Given the description of an element on the screen output the (x, y) to click on. 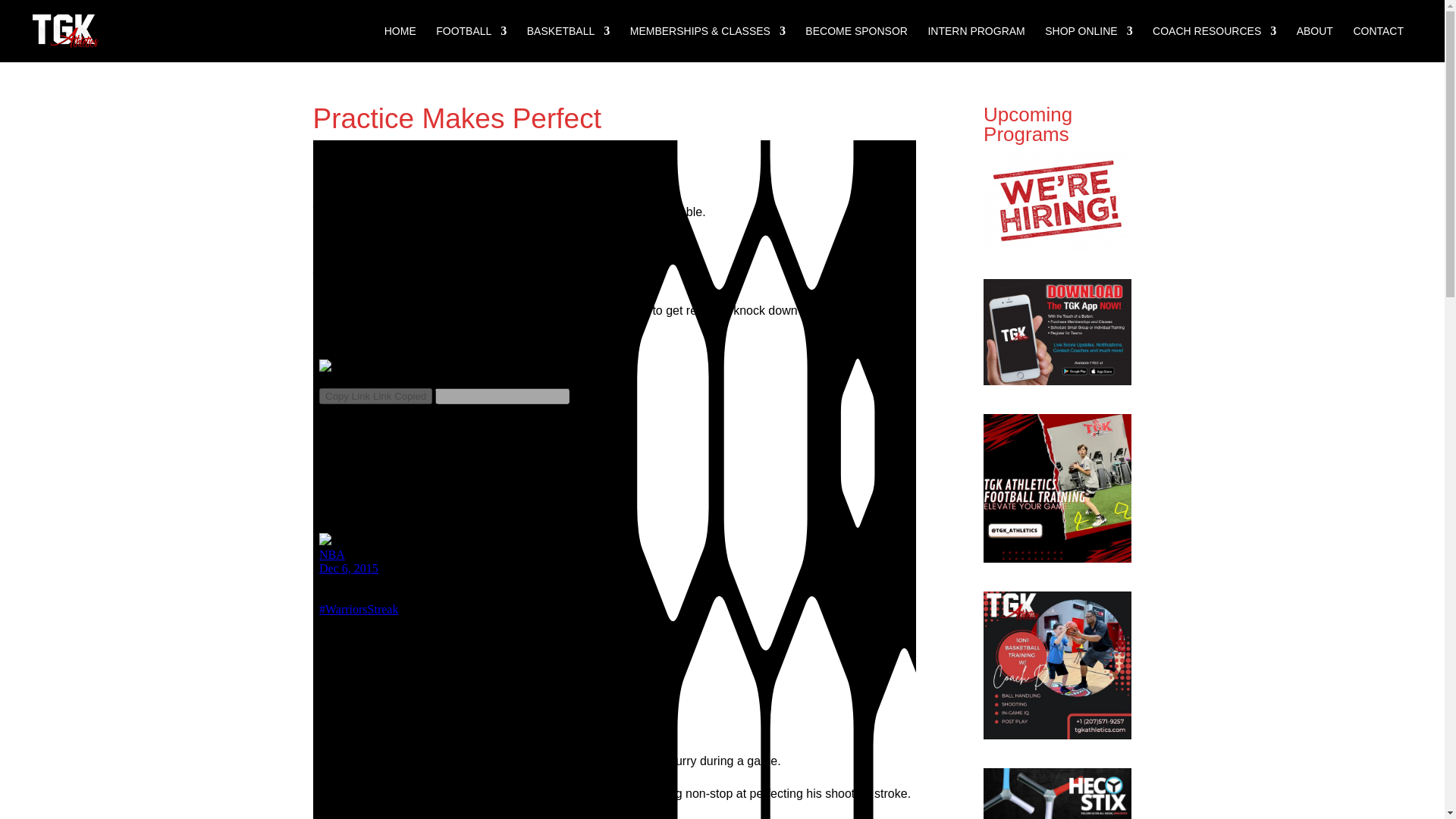
BECOME SPONSOR (856, 43)
BASKETBALL (568, 43)
COACH RESOURCES (1214, 43)
FOOTBALL (470, 43)
SHOP ONLINE (1088, 43)
INTERN PROGRAM (976, 43)
